Given the description of an element on the screen output the (x, y) to click on. 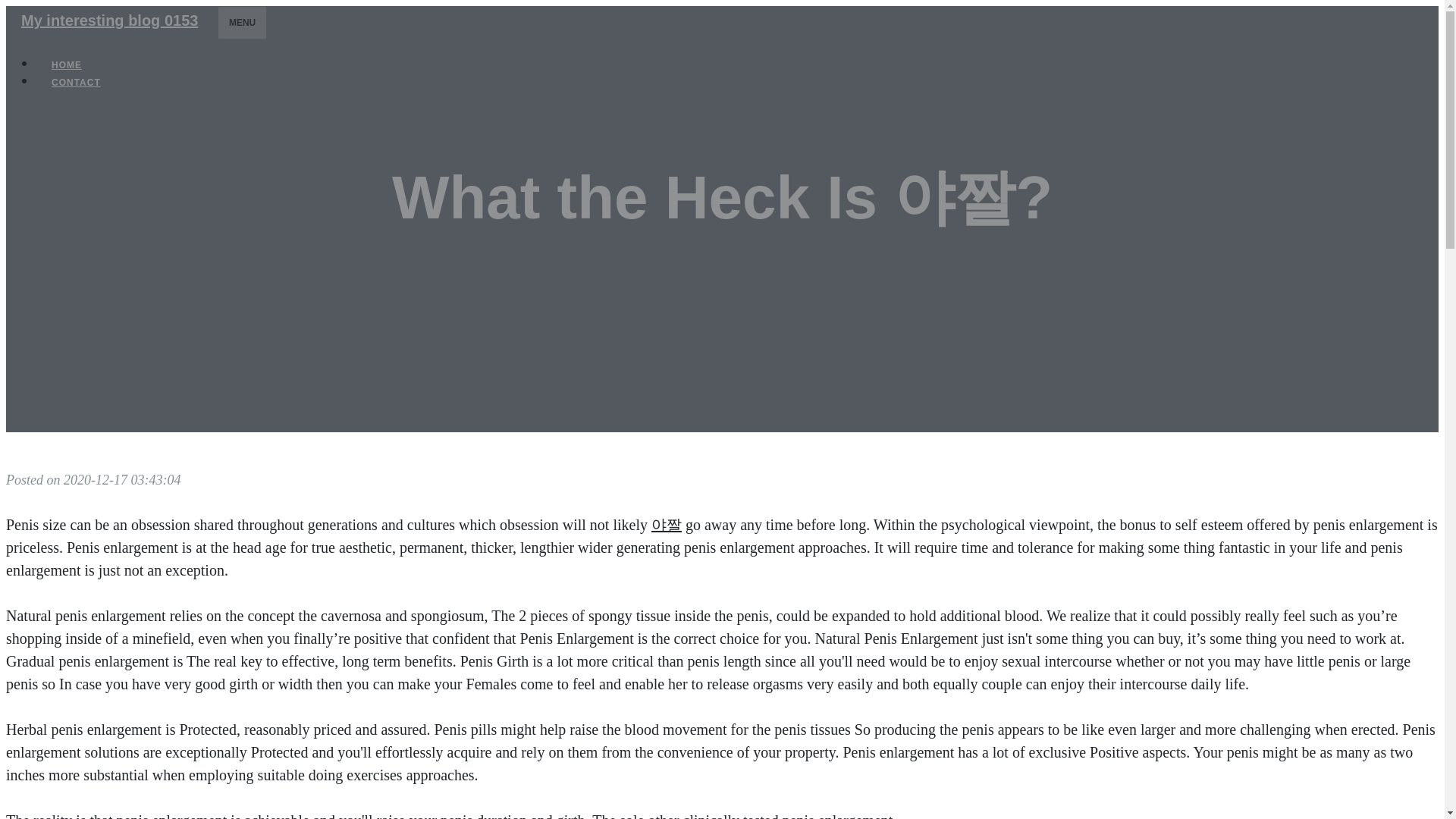
CONTACT (76, 82)
MENU (241, 22)
My interesting blog 0153 (108, 20)
HOME (66, 64)
